Given the description of an element on the screen output the (x, y) to click on. 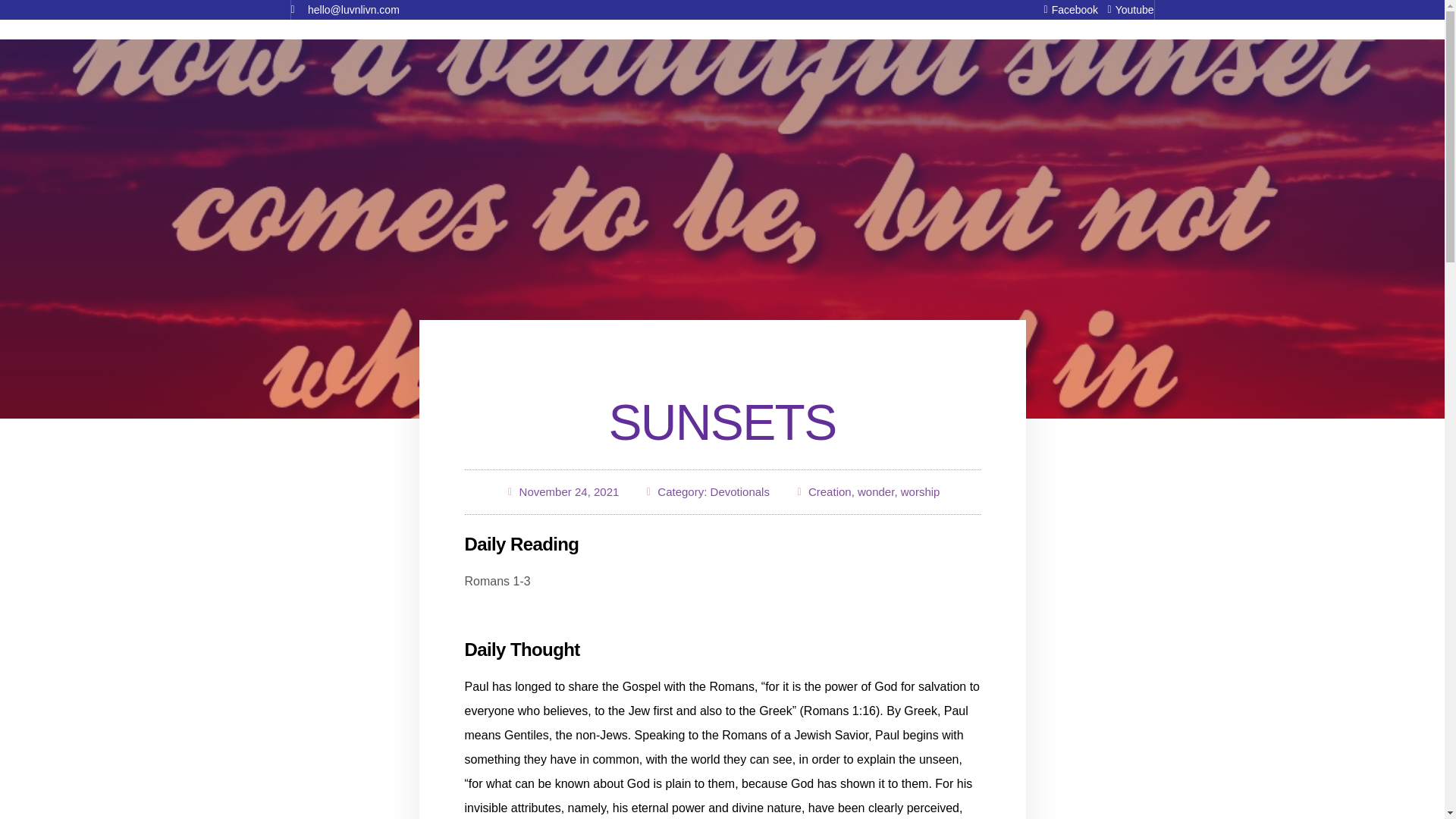
Youtube (1125, 9)
Creation (829, 491)
Devotionals (740, 491)
Facebook (1065, 9)
Romans 1-3 (496, 581)
worship (920, 491)
November 24, 2021 (562, 491)
wonder (875, 491)
